Given the description of an element on the screen output the (x, y) to click on. 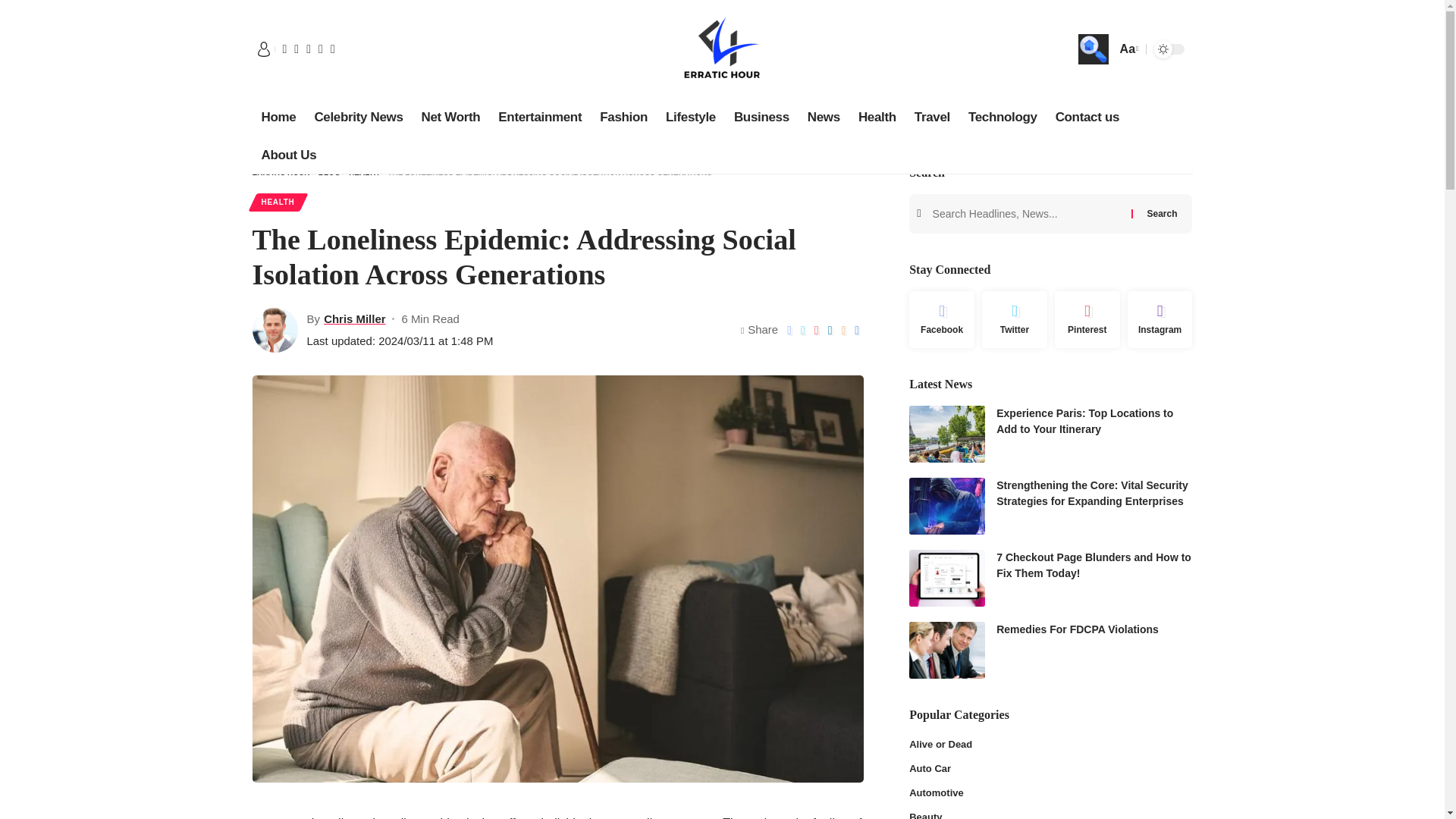
Search (1161, 213)
Technology (1002, 117)
Experience Paris: Top Locations to Add to Your Itinerary (946, 433)
Go to Erratic Hour. (279, 172)
Travel (932, 117)
Lifestyle (690, 117)
Pinterest (1087, 319)
Entertainment (540, 117)
Business (761, 117)
About Us (287, 155)
Celebrity News (358, 117)
Erratic Hour (722, 48)
Fashion (623, 117)
News (822, 117)
Go to Blog. (329, 172)
